Given the description of an element on the screen output the (x, y) to click on. 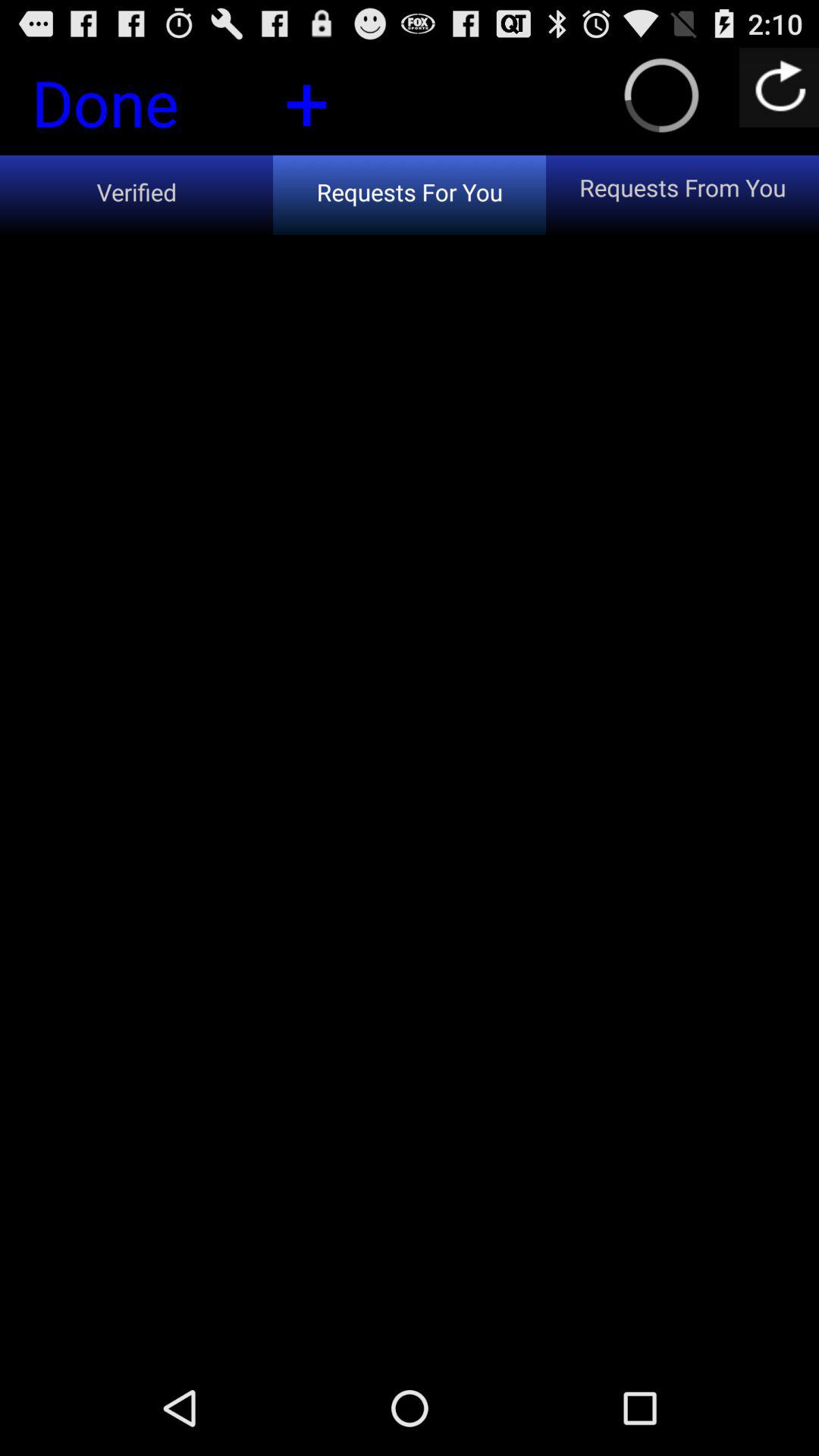
swipe until the + icon (306, 100)
